Given the description of an element on the screen output the (x, y) to click on. 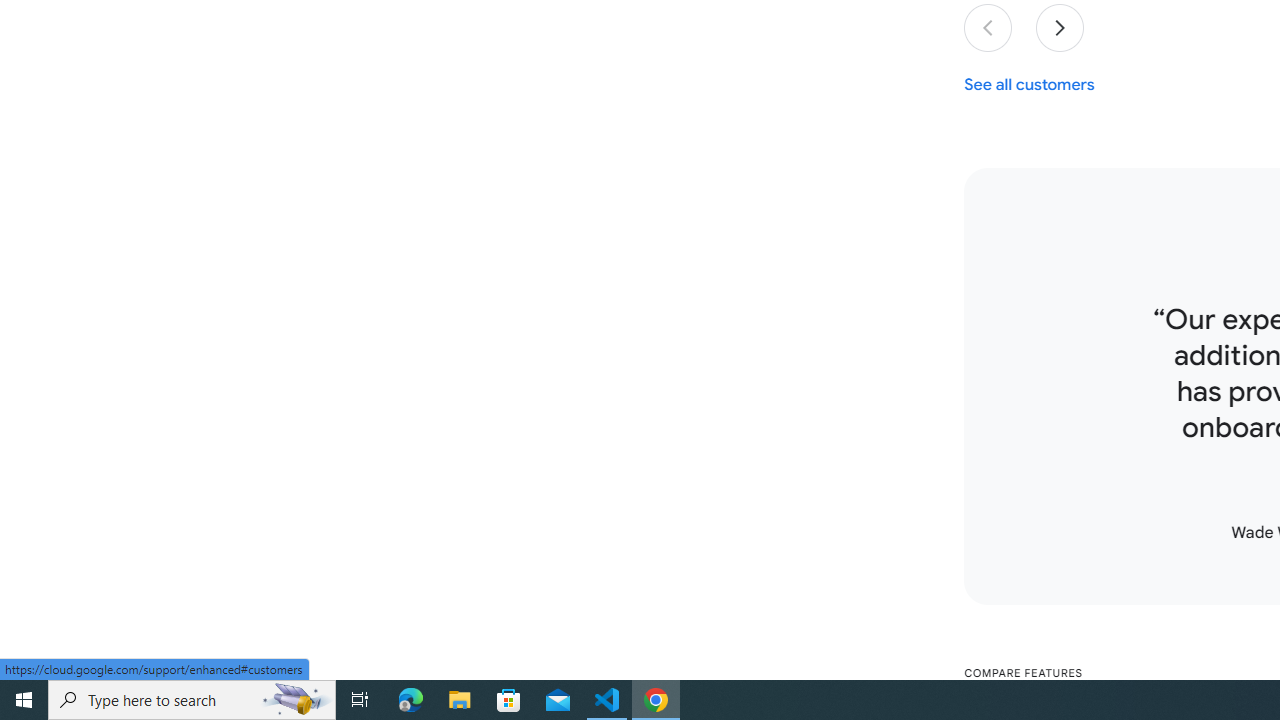
Previous slide (987, 27)
See all customers (1029, 83)
Next slide (1060, 27)
